Given the description of an element on the screen output the (x, y) to click on. 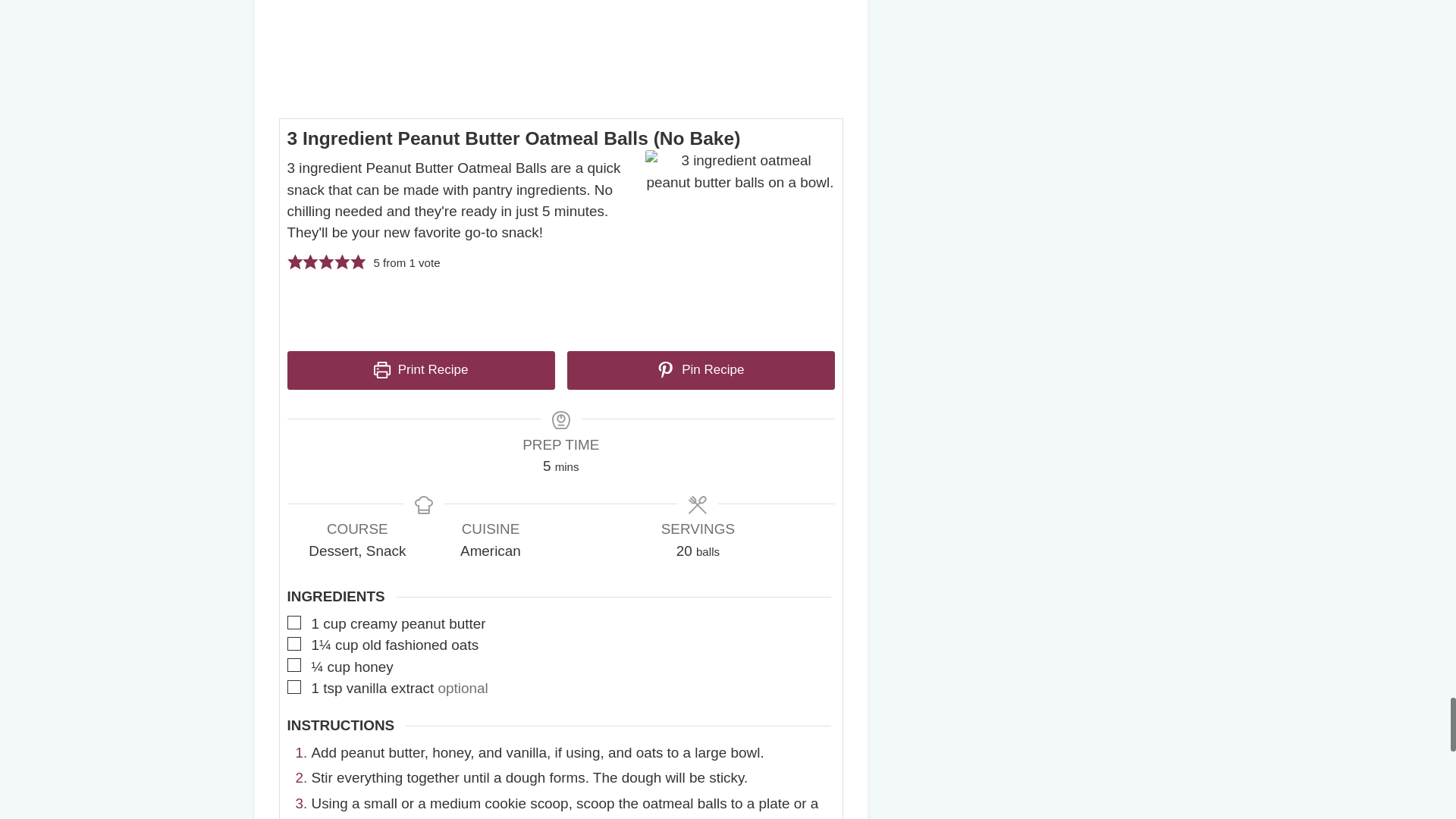
Print Recipe (420, 370)
